Given the description of an element on the screen output the (x, y) to click on. 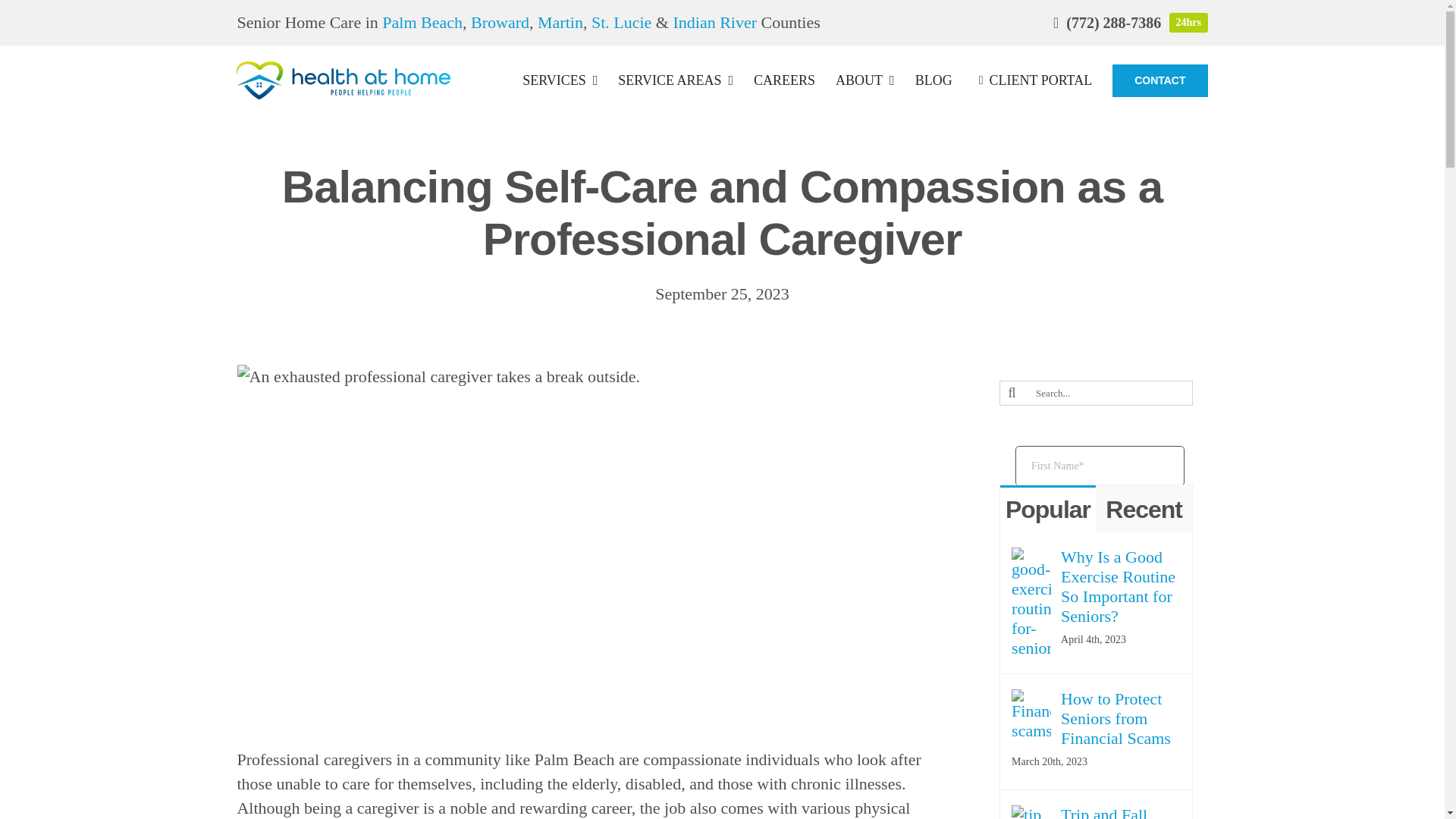
Indian River (714, 22)
St. Lucie (620, 22)
Martin (560, 22)
Subscribe to Newsletter (1099, 437)
SERVICES (559, 80)
Broward (499, 22)
Palm Beach (422, 22)
SERVICE AREAS (675, 80)
